Given the description of an element on the screen output the (x, y) to click on. 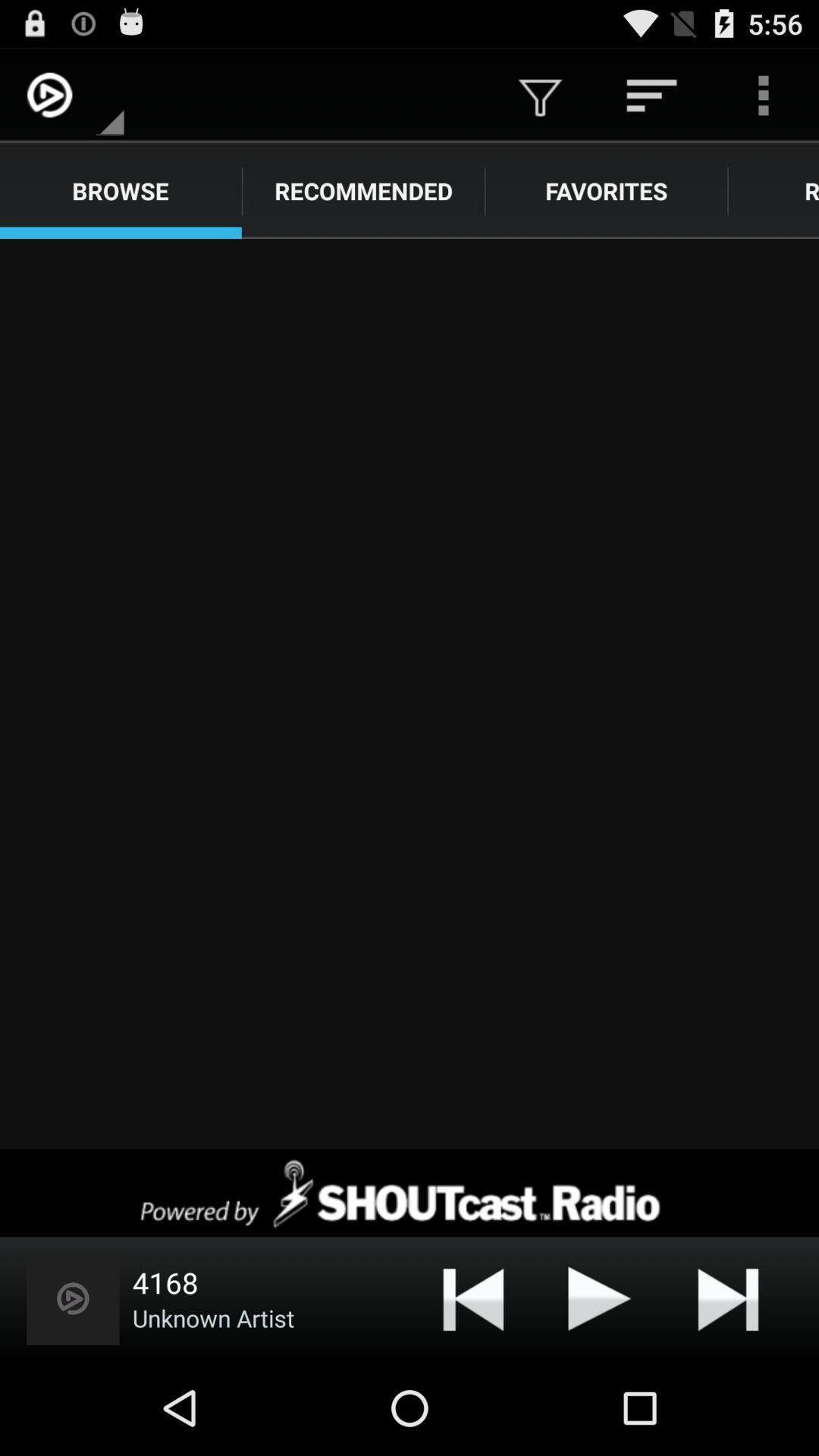
turn off the item at the center (409, 693)
